Given the description of an element on the screen output the (x, y) to click on. 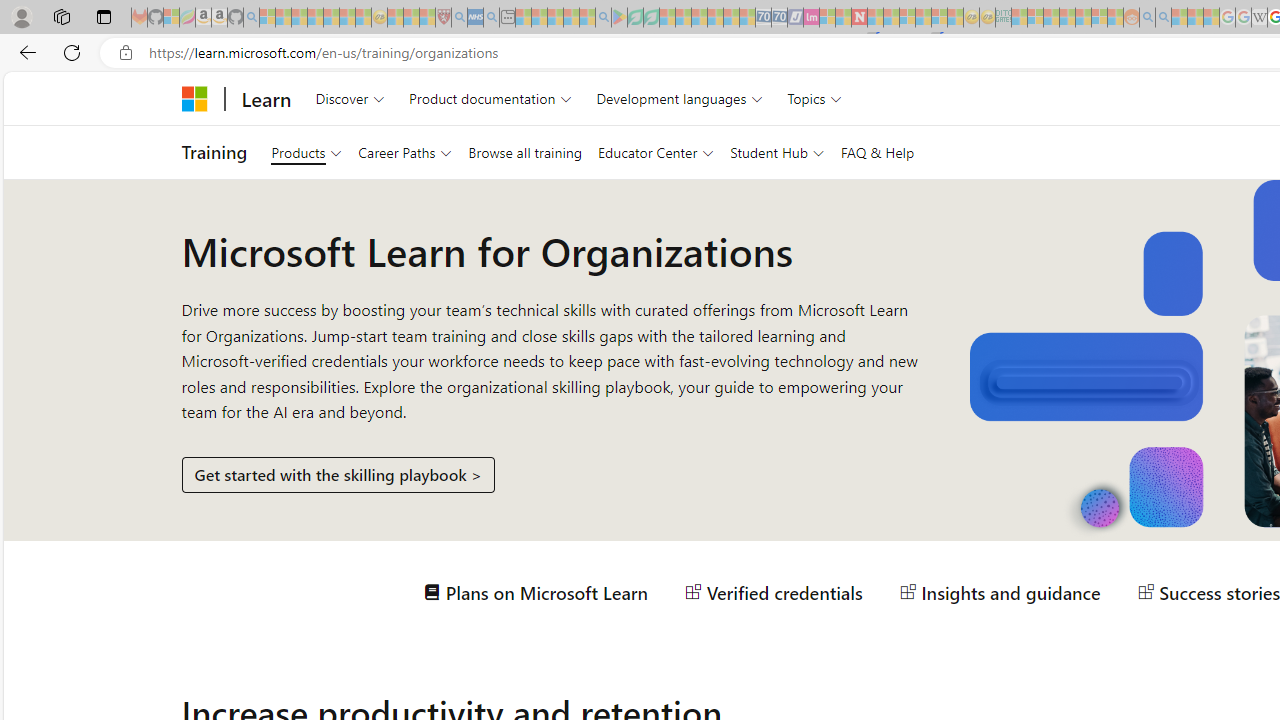
Terms of Use Agreement - Sleeping (635, 17)
The Weather Channel - MSN - Sleeping (299, 17)
Topics (815, 98)
Educator Center (655, 152)
Development languages (679, 98)
Latest Politics News & Archive | Newsweek.com - Sleeping (859, 17)
Career Paths (404, 152)
Cheap Hotels - Save70.com - Sleeping (779, 17)
